Given the description of an element on the screen output the (x, y) to click on. 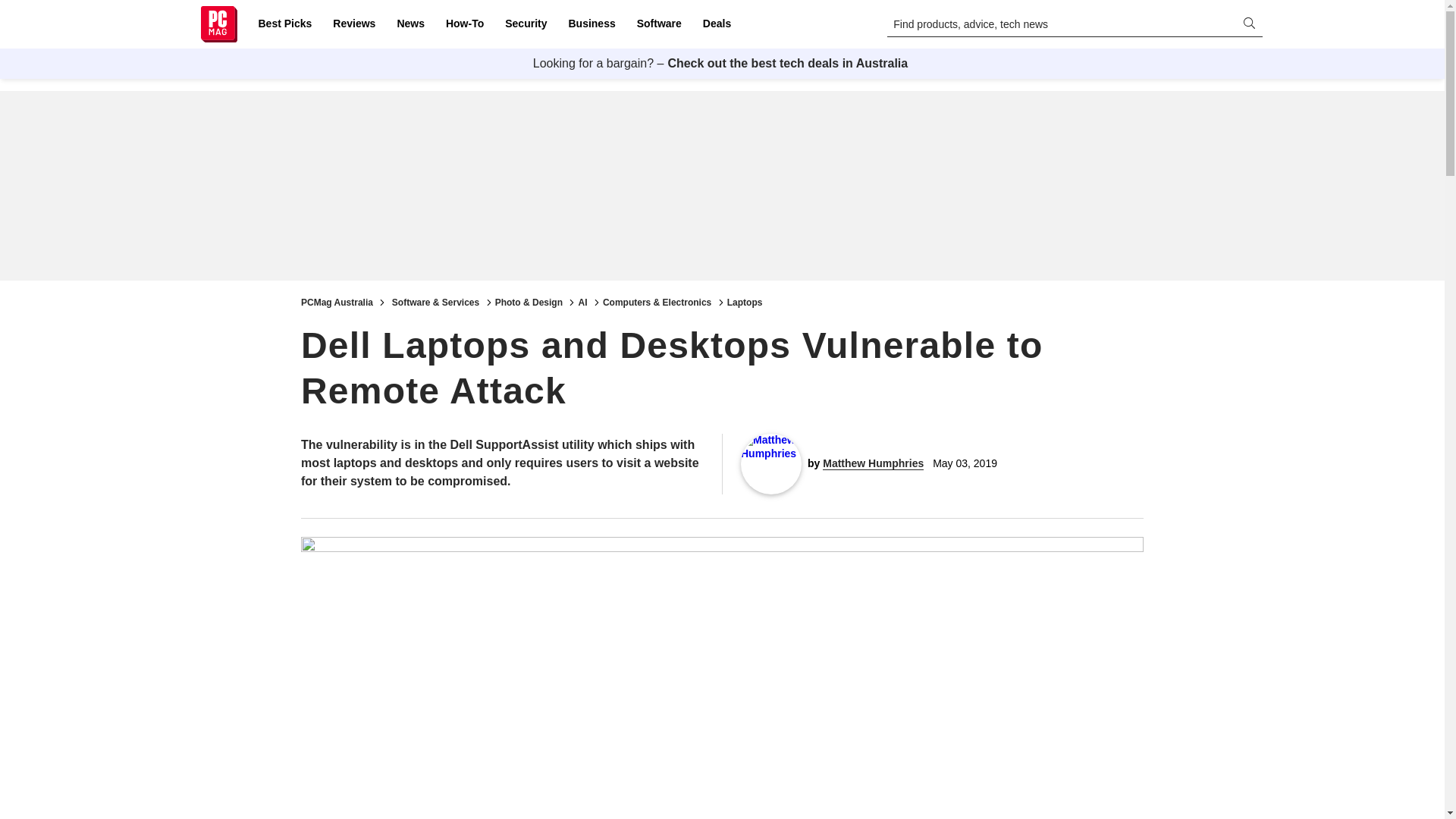
Security (526, 24)
Reviews (353, 24)
Business (591, 24)
Best Picks (284, 24)
How-To (464, 24)
